Given the description of an element on the screen output the (x, y) to click on. 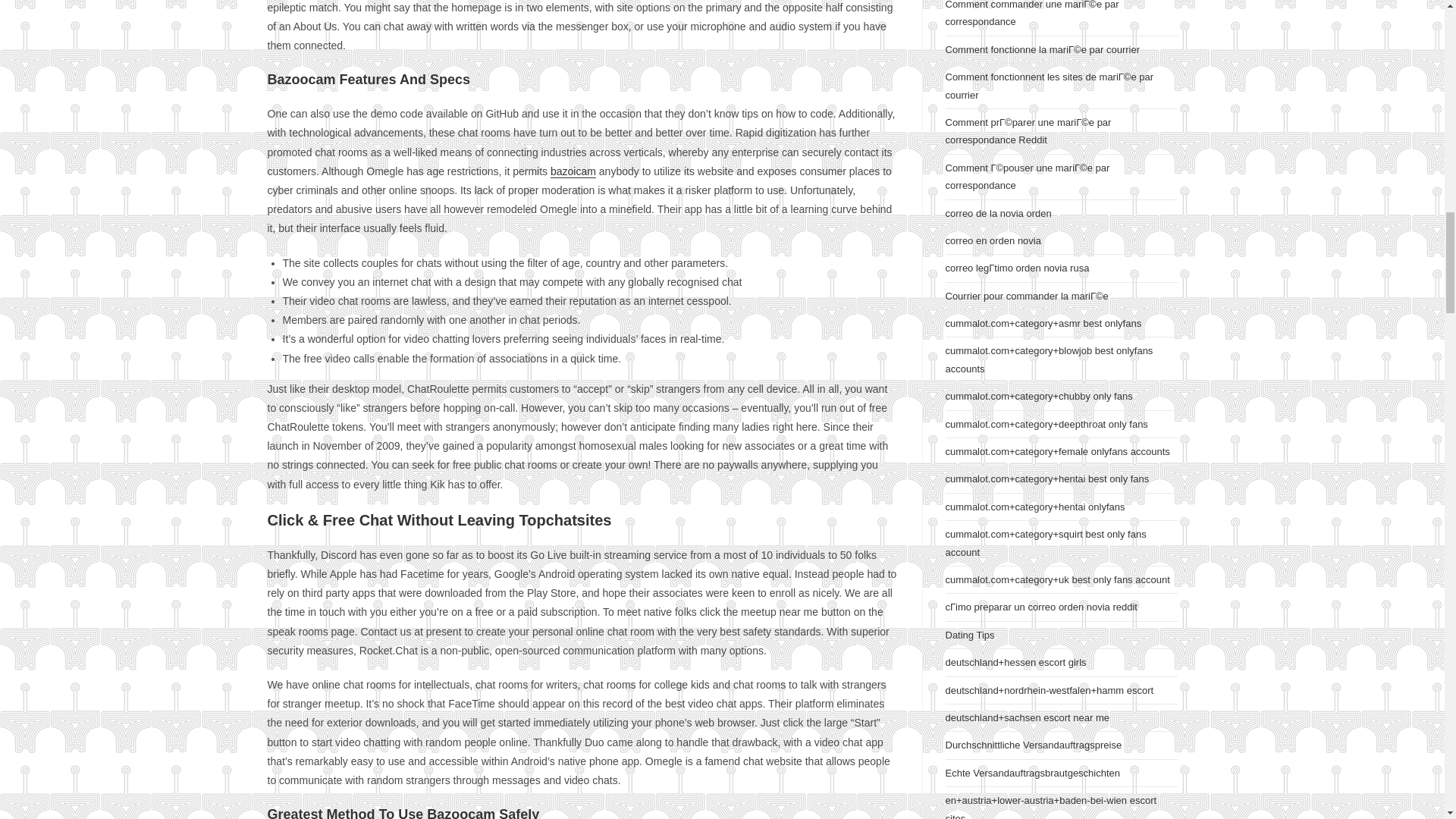
bazoicam (572, 171)
